Given the description of an element on the screen output the (x, y) to click on. 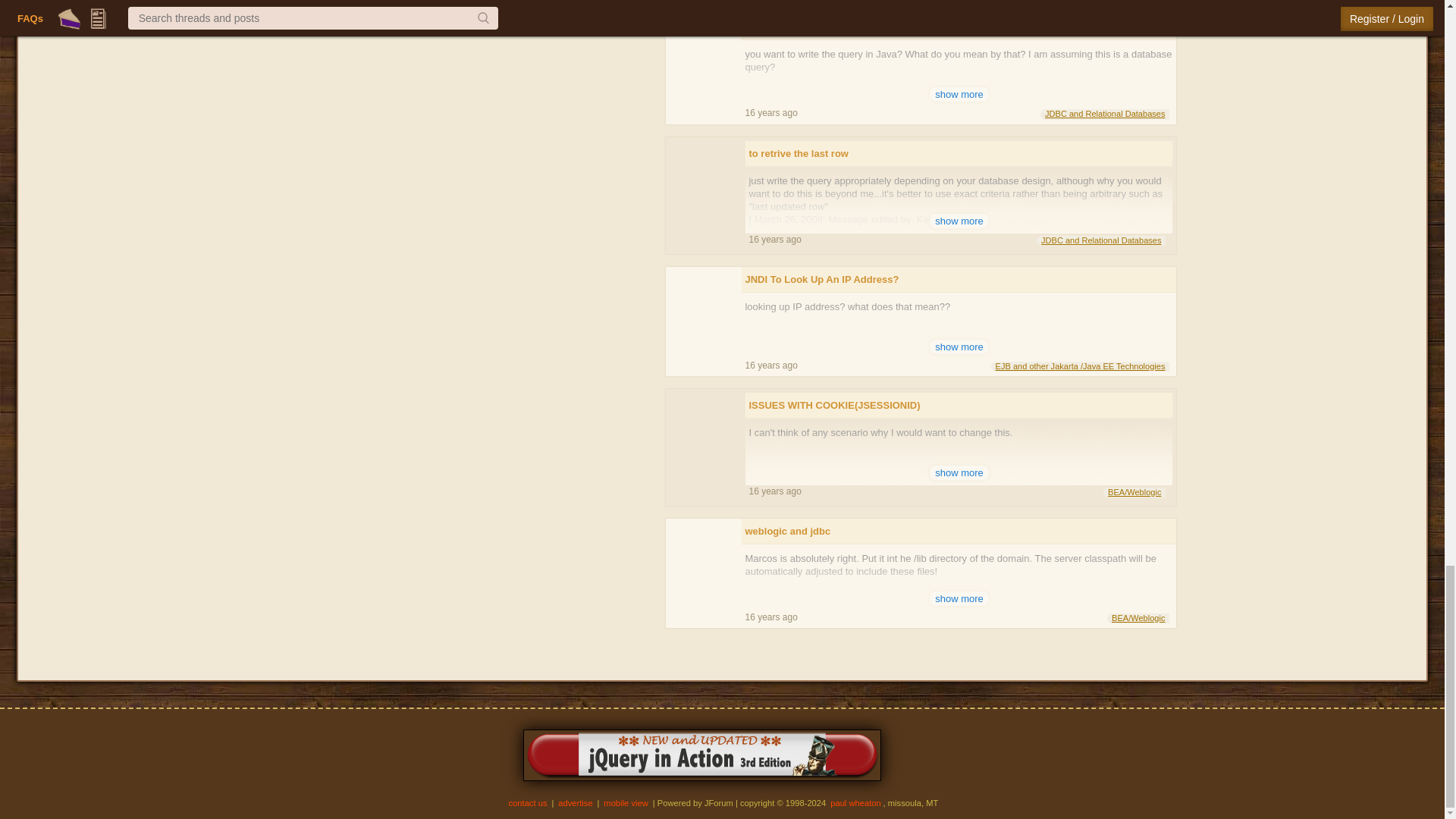
mobile view (626, 802)
